Given the description of an element on the screen output the (x, y) to click on. 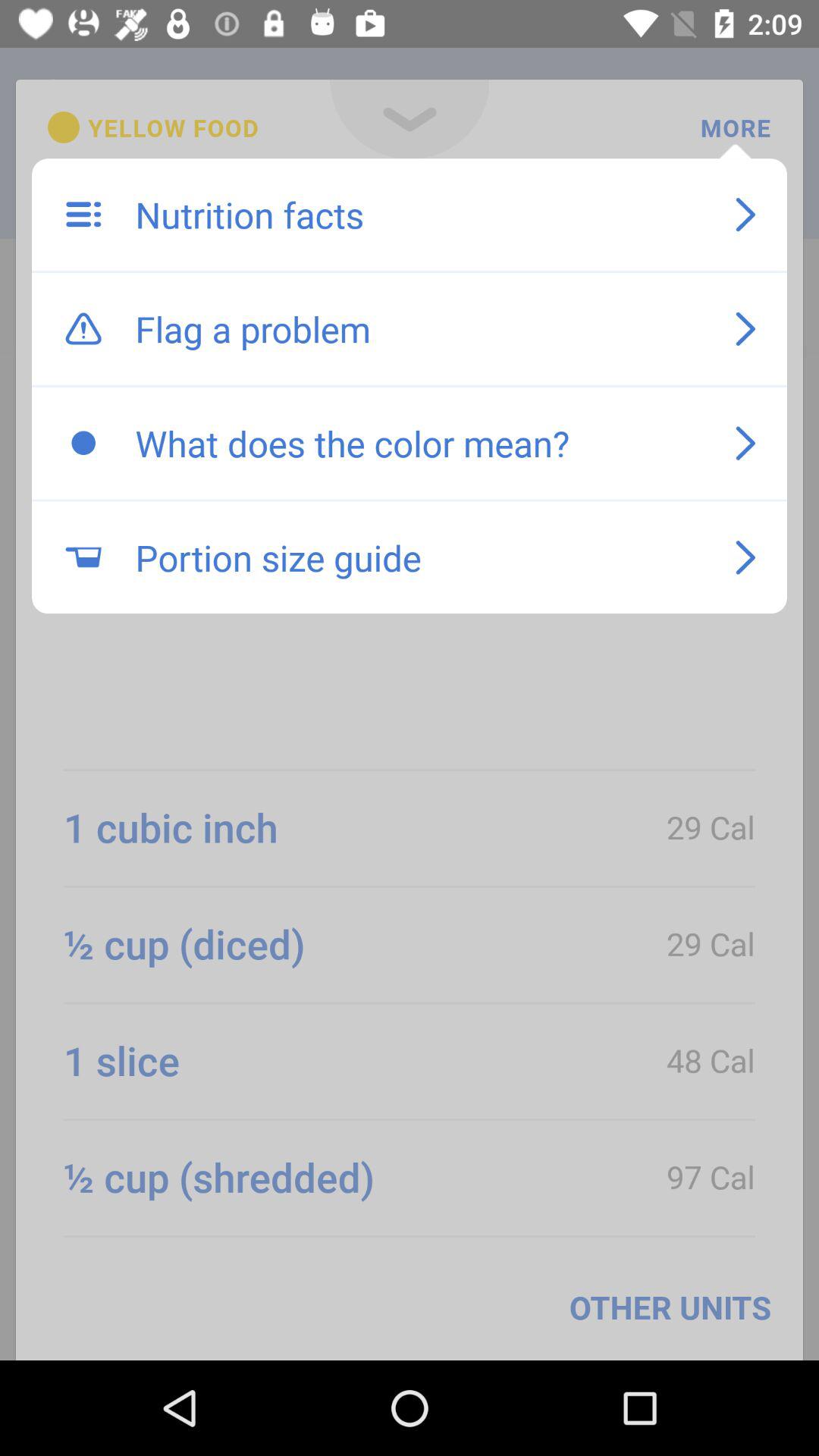
flip to flag a problem icon (419, 328)
